Given the description of an element on the screen output the (x, y) to click on. 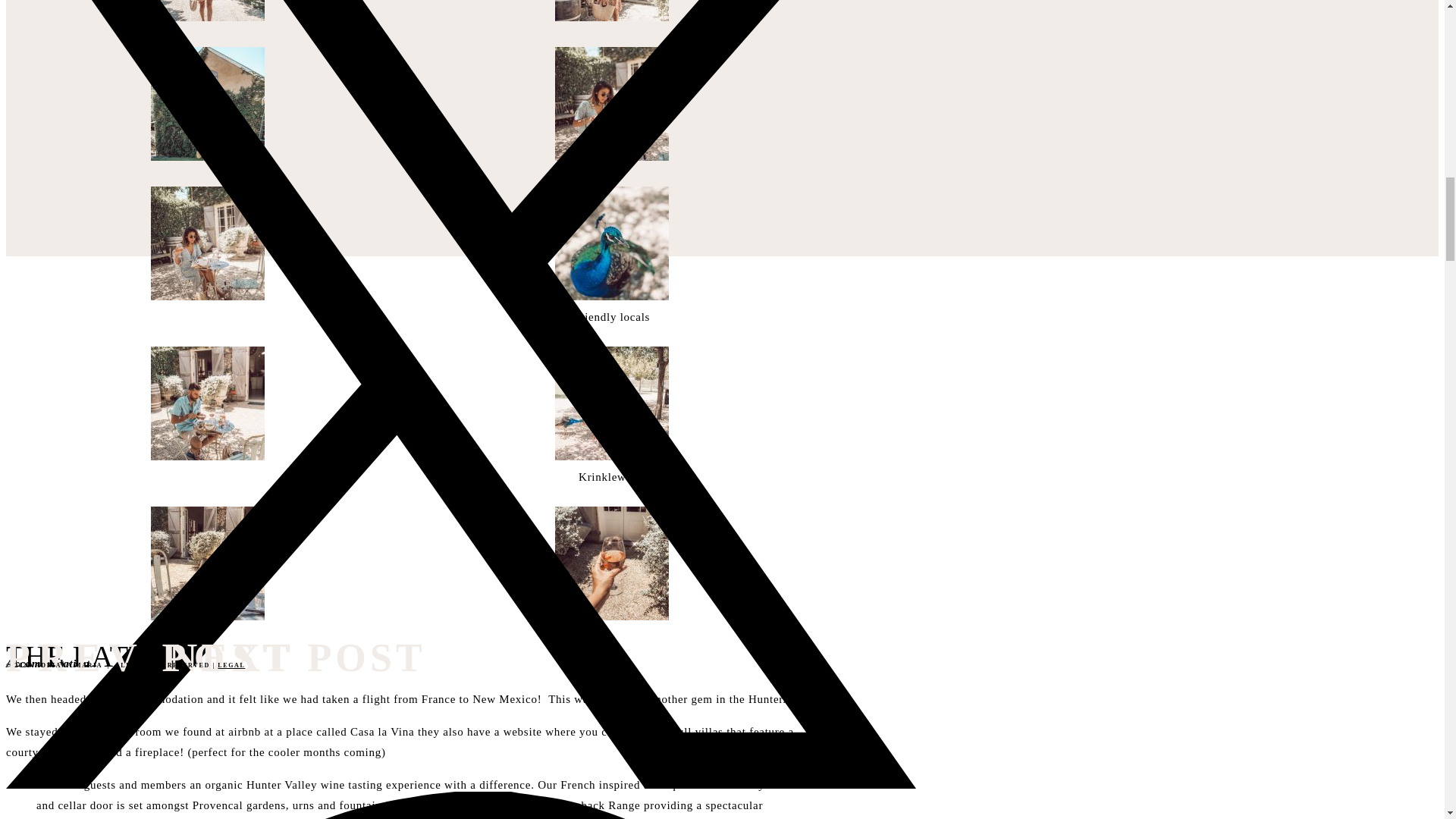
Casa la Vina (383, 731)
